Given the description of an element on the screen output the (x, y) to click on. 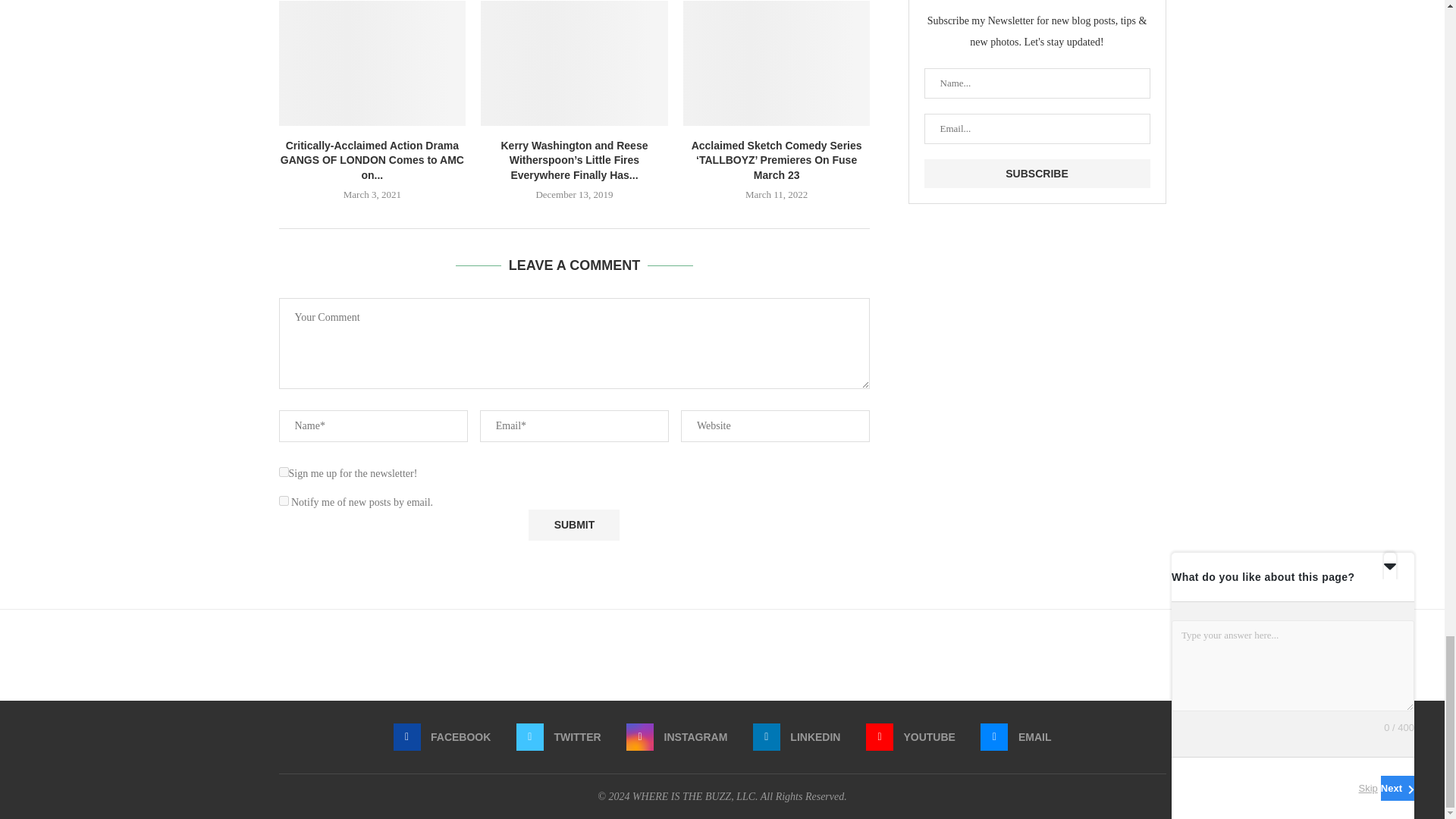
Submit (574, 524)
Subscribe (1036, 173)
subscribe (283, 501)
1 (283, 471)
